Given the description of an element on the screen output the (x, y) to click on. 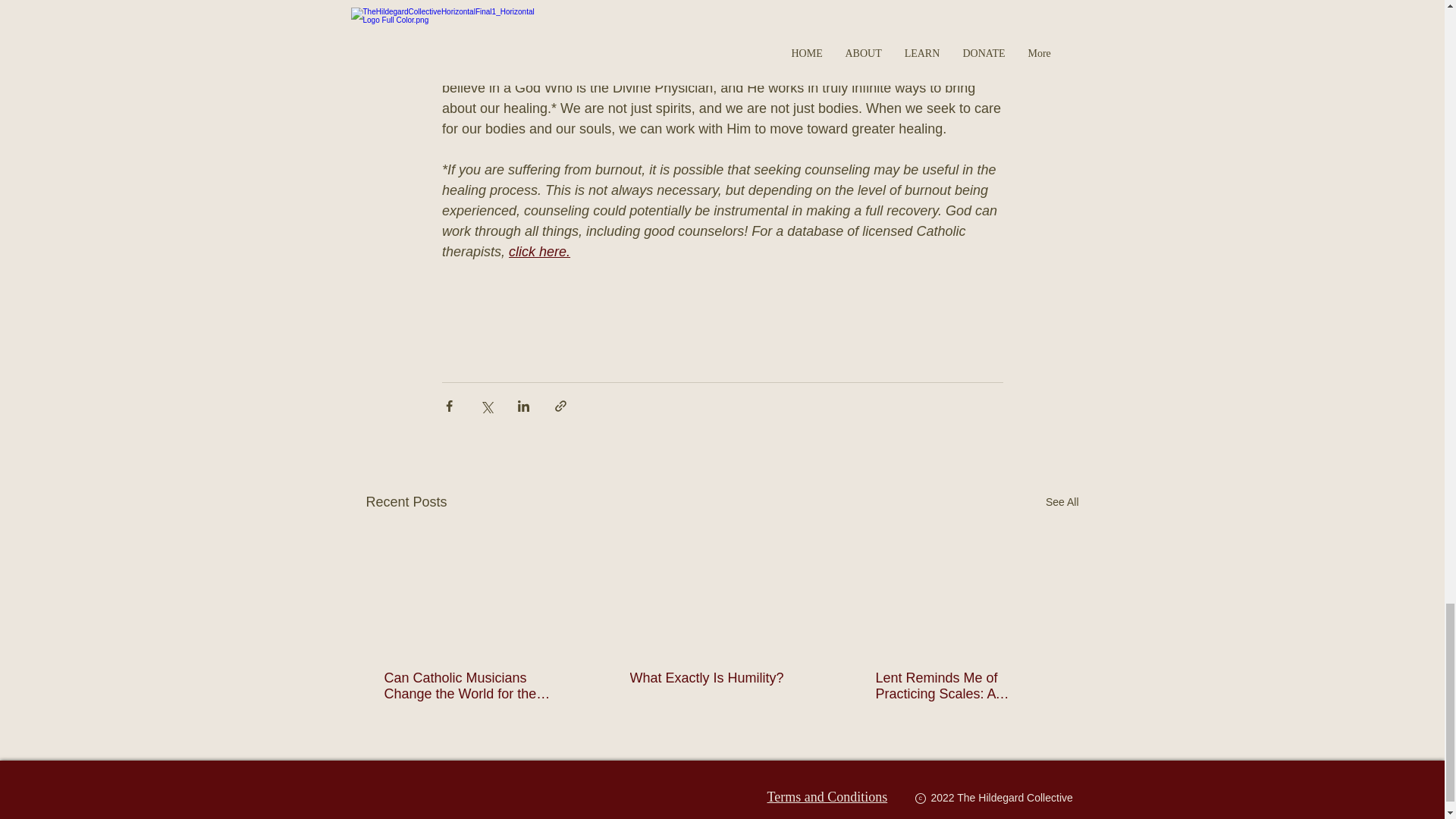
click here. (539, 251)
See All (1061, 502)
What Exactly Is Humility? (720, 678)
Terms and Conditions (827, 796)
